Given the description of an element on the screen output the (x, y) to click on. 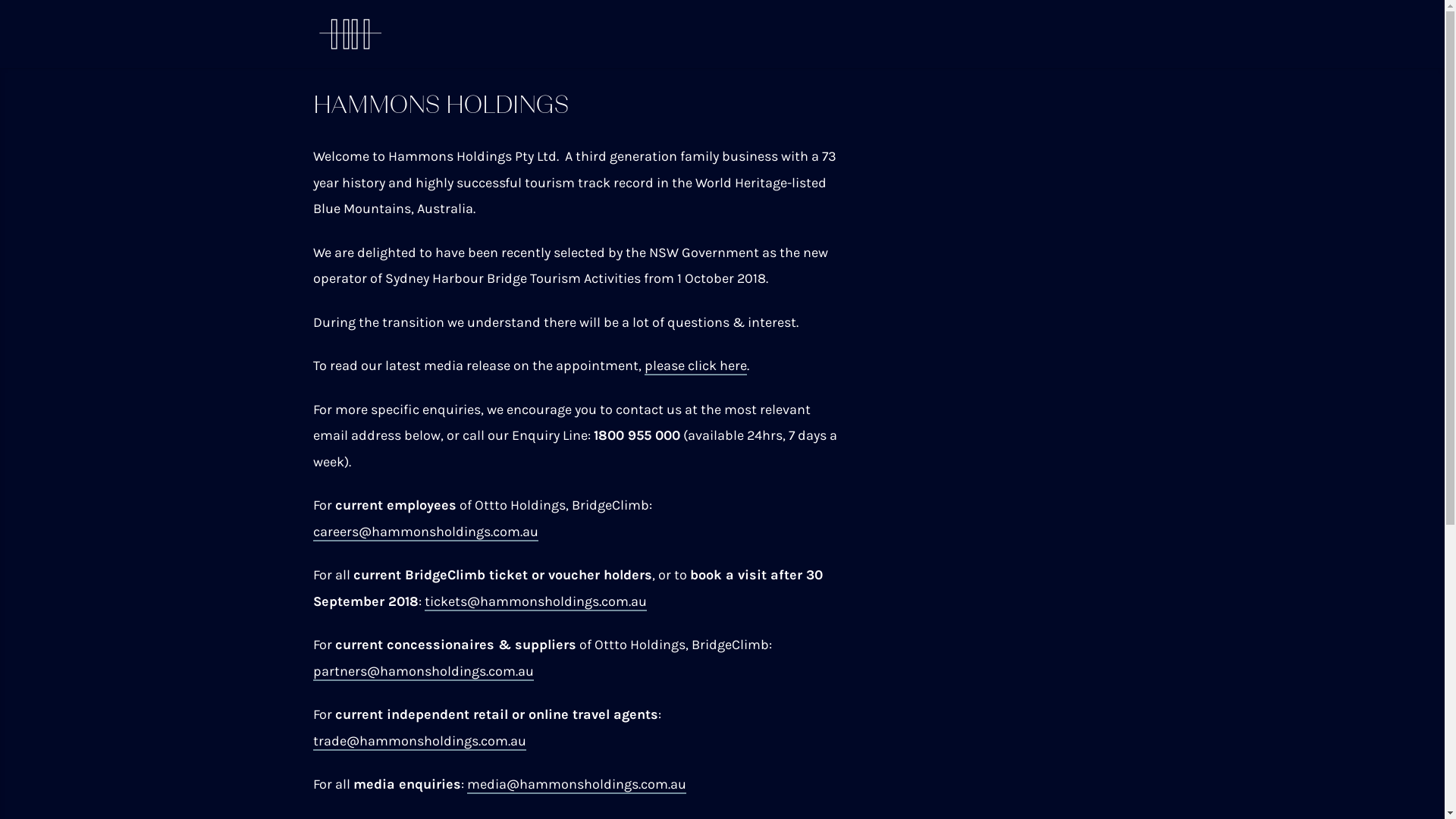
careers@hammonsholdings.com.au Element type: text (424, 532)
please click here Element type: text (695, 366)
tickets@hammonsholdings.com.au Element type: text (535, 602)
media@hammonsholdings.com.au Element type: text (576, 784)
trade@hammonsholdings.com.au Element type: text (418, 741)
partners@hamonsholdings.com.au Element type: text (422, 671)
